Given the description of an element on the screen output the (x, y) to click on. 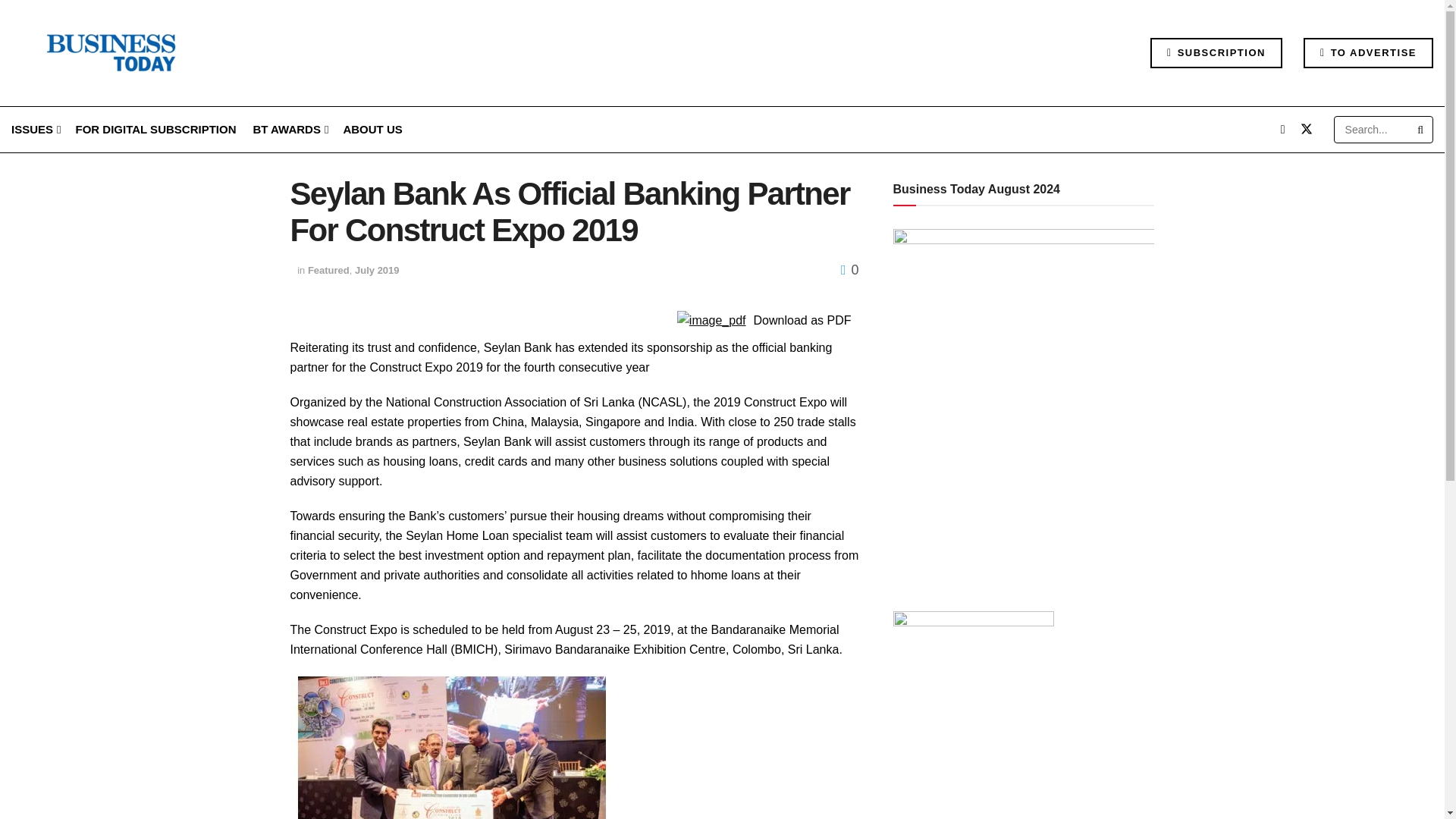
SUBSCRIPTION (1216, 52)
Download PDF (710, 320)
ISSUES (35, 129)
TO ADVERTISE (1367, 52)
